Given the description of an element on the screen output the (x, y) to click on. 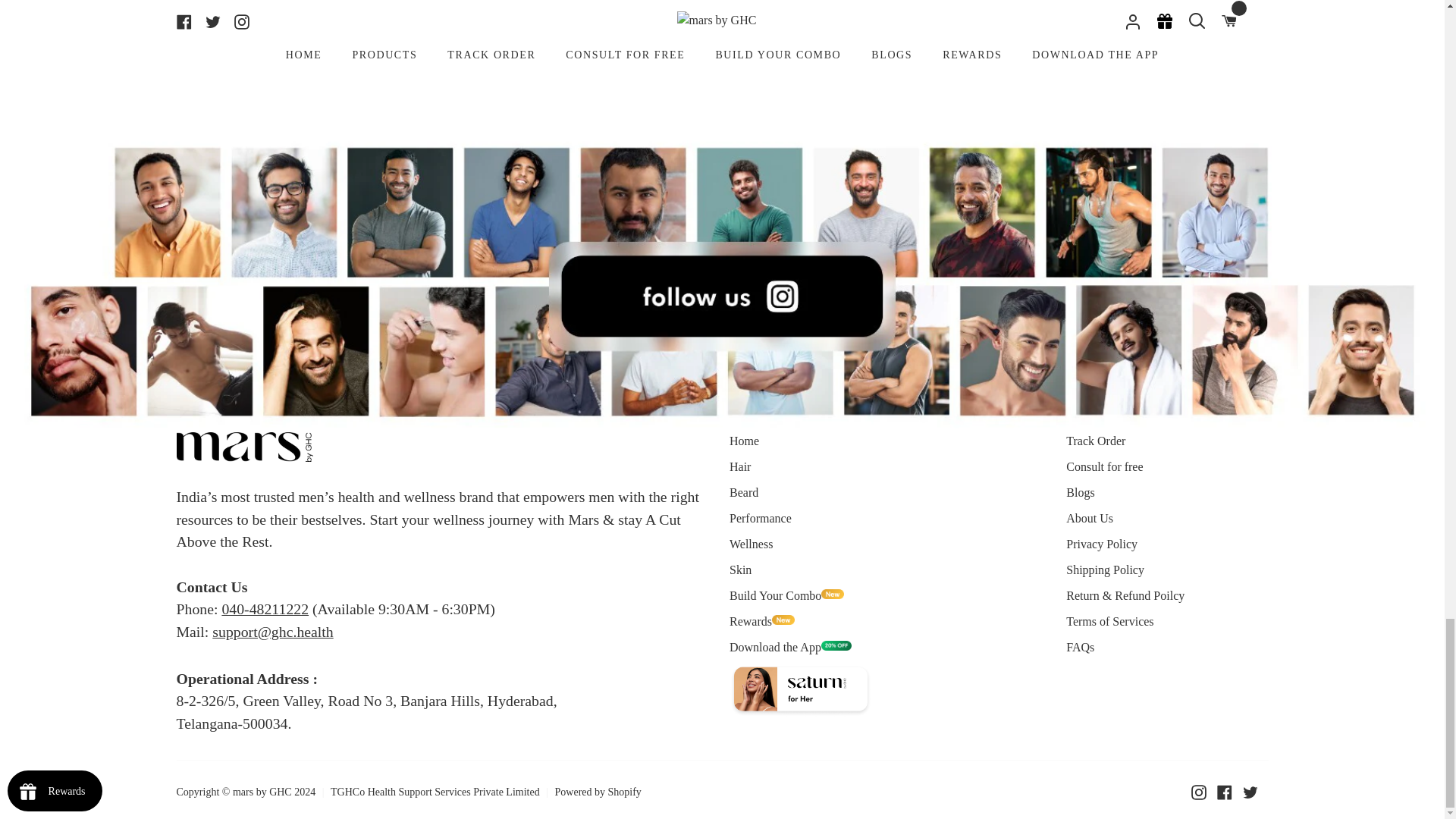
mars by GHC on Instagram (1198, 792)
mars by GHC on Twitter (1249, 792)
mars by GHC on Facebook (1223, 792)
tel:040-48211222 (264, 608)
